Given the description of an element on the screen output the (x, y) to click on. 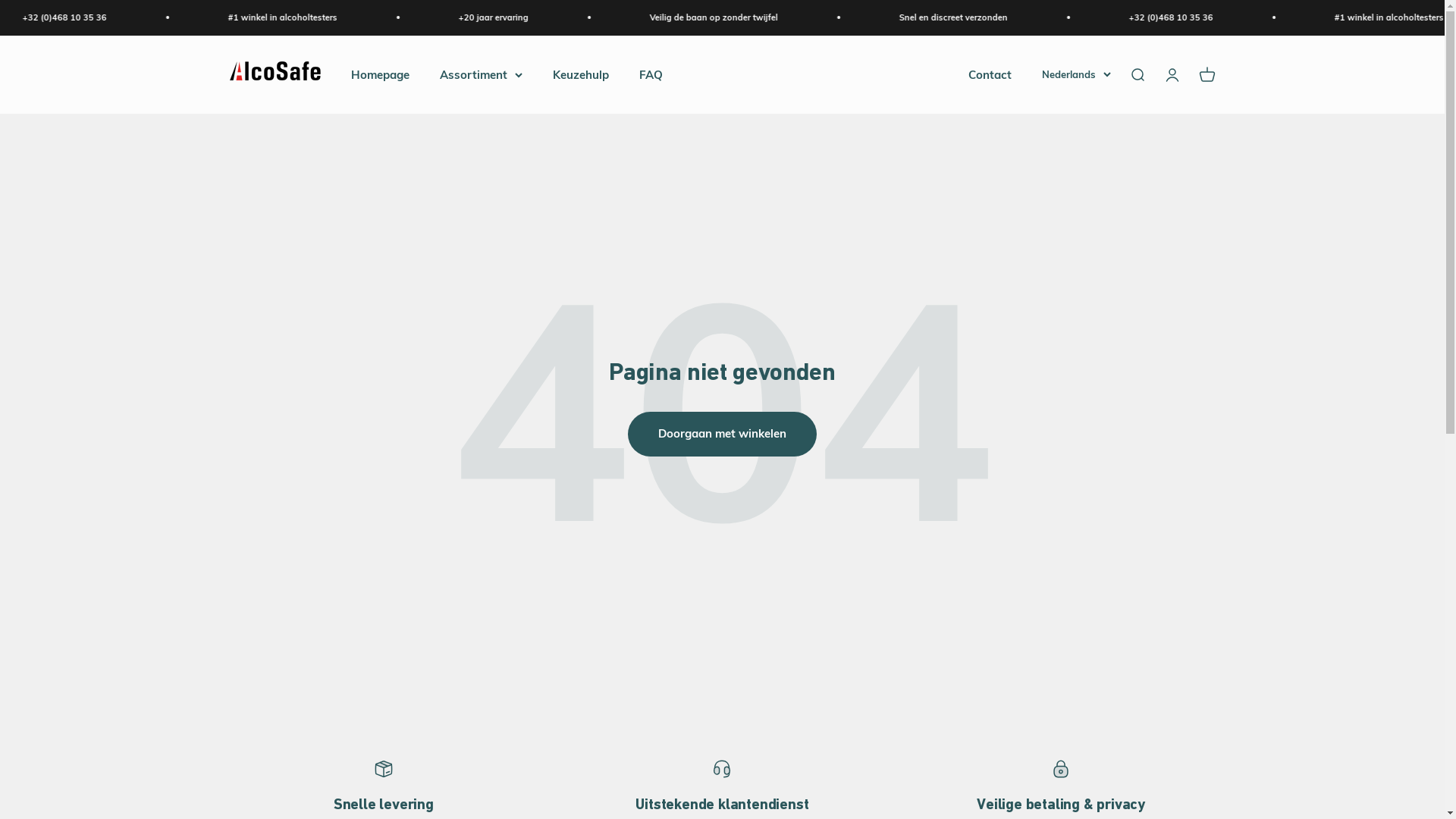
FAQ Element type: text (650, 73)
AlcoSafe Element type: text (274, 74)
Nederlands Element type: text (1075, 74)
Keuzehulp Element type: text (580, 73)
Homepage Element type: text (379, 73)
Assortiment Element type: text (480, 74)
Accountpagina openen Element type: text (1171, 73)
Doorgaan met winkelen Element type: text (721, 433)
Zoeken openen Element type: text (1136, 73)
Winkelwagen openen
0 Element type: text (1206, 73)
Contact Element type: text (988, 73)
